Given the description of an element on the screen output the (x, y) to click on. 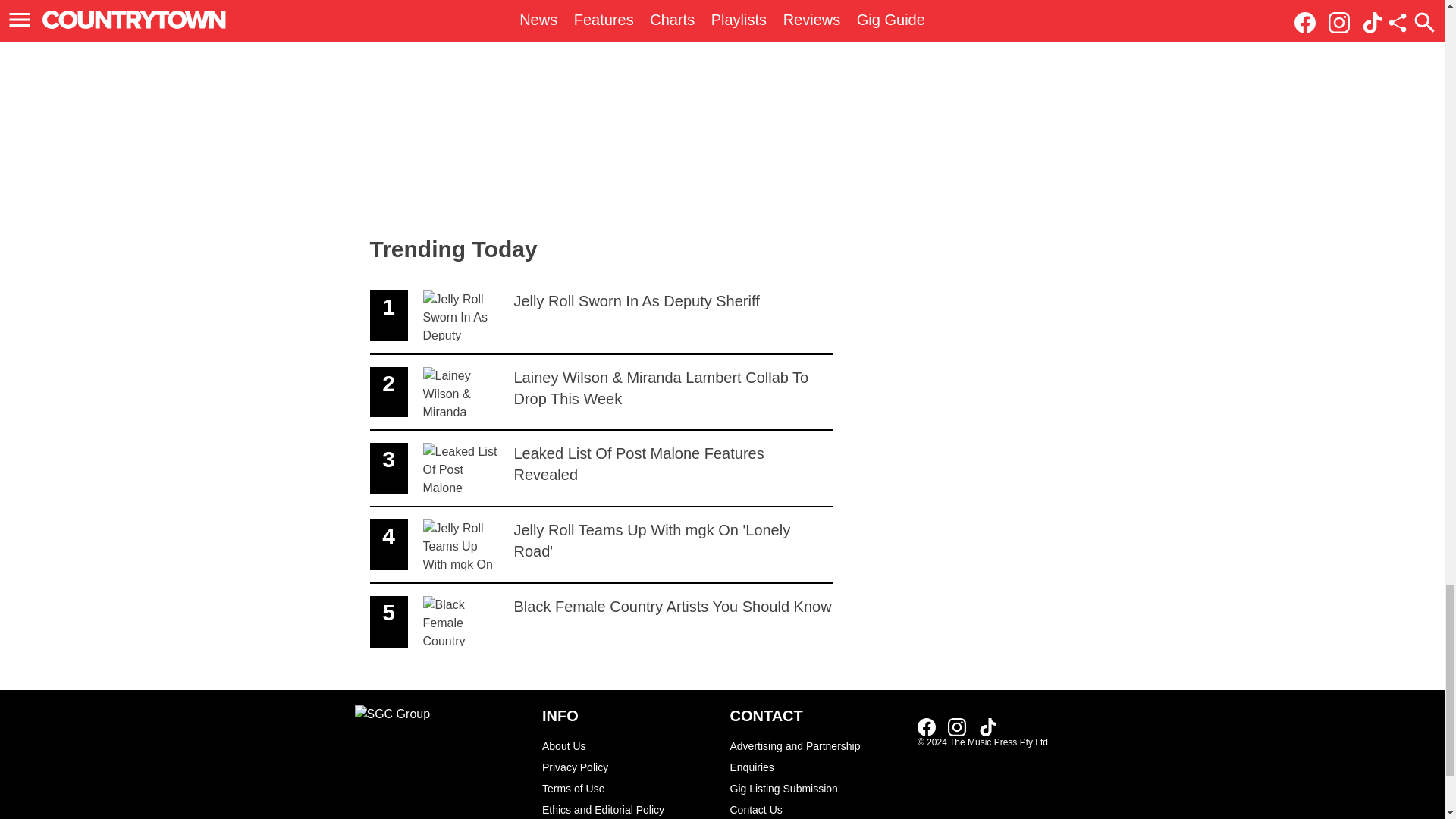
Contact Us (815, 809)
Link to our TikTok (987, 727)
Link to our TikTok (987, 725)
Link to our Facebook (926, 727)
Privacy Policy (600, 316)
Ethics and Editorial Policy (600, 468)
Link to our Facebook (627, 767)
Terms of Use (627, 809)
Advertising and Partnership Enquiries (930, 725)
Gig Listing Submission (600, 544)
About Us (627, 788)
Link to our Instagram (815, 756)
